Given the description of an element on the screen output the (x, y) to click on. 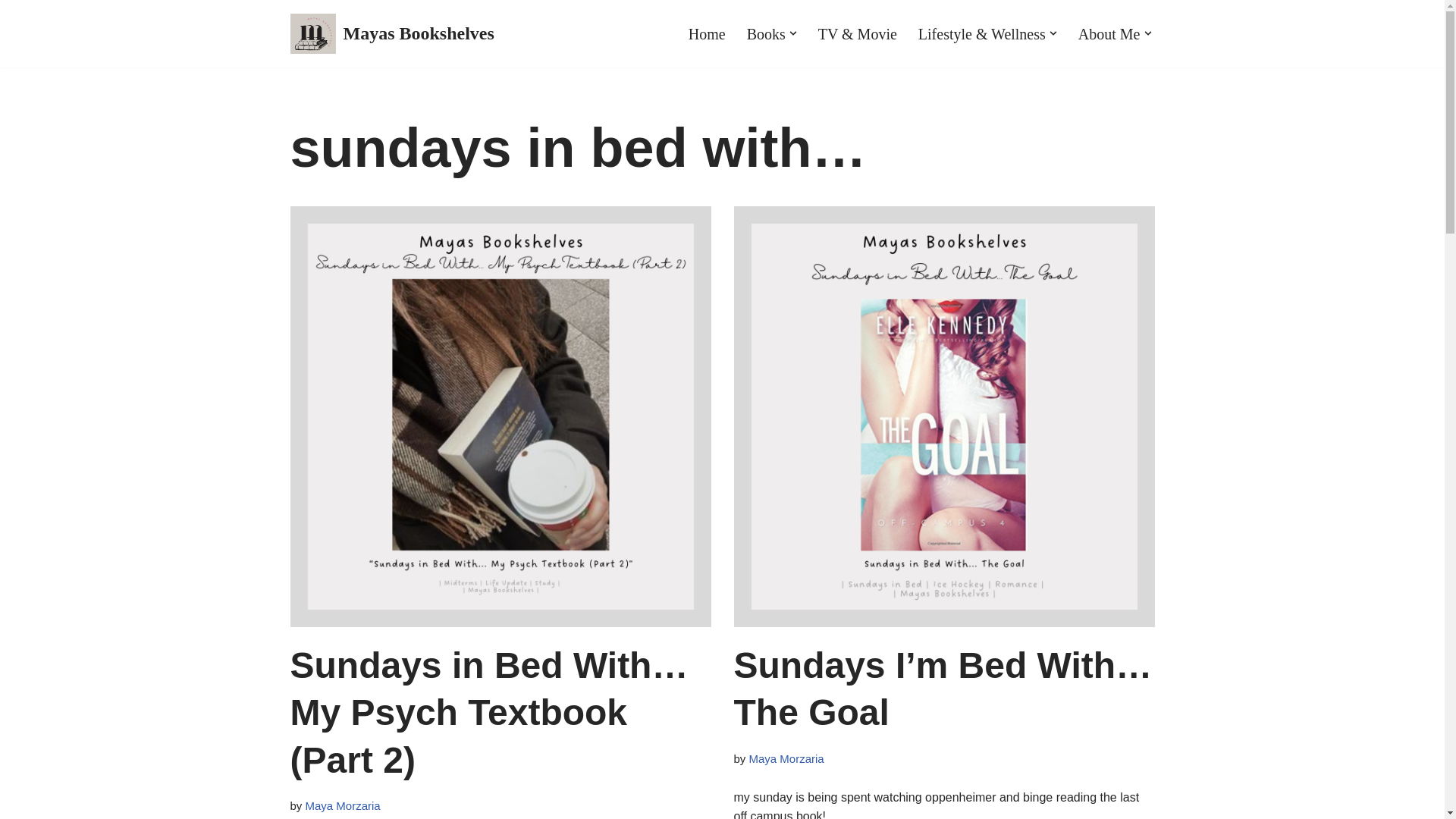
Maya Morzaria (786, 758)
Maya Morzaria (342, 805)
Mayas Bookshelves (391, 33)
About Me (1109, 33)
Books (766, 33)
Home (706, 33)
Skip to content (11, 31)
Posts by Maya Morzaria (786, 758)
Posts by Maya Morzaria (342, 805)
